Given the description of an element on the screen output the (x, y) to click on. 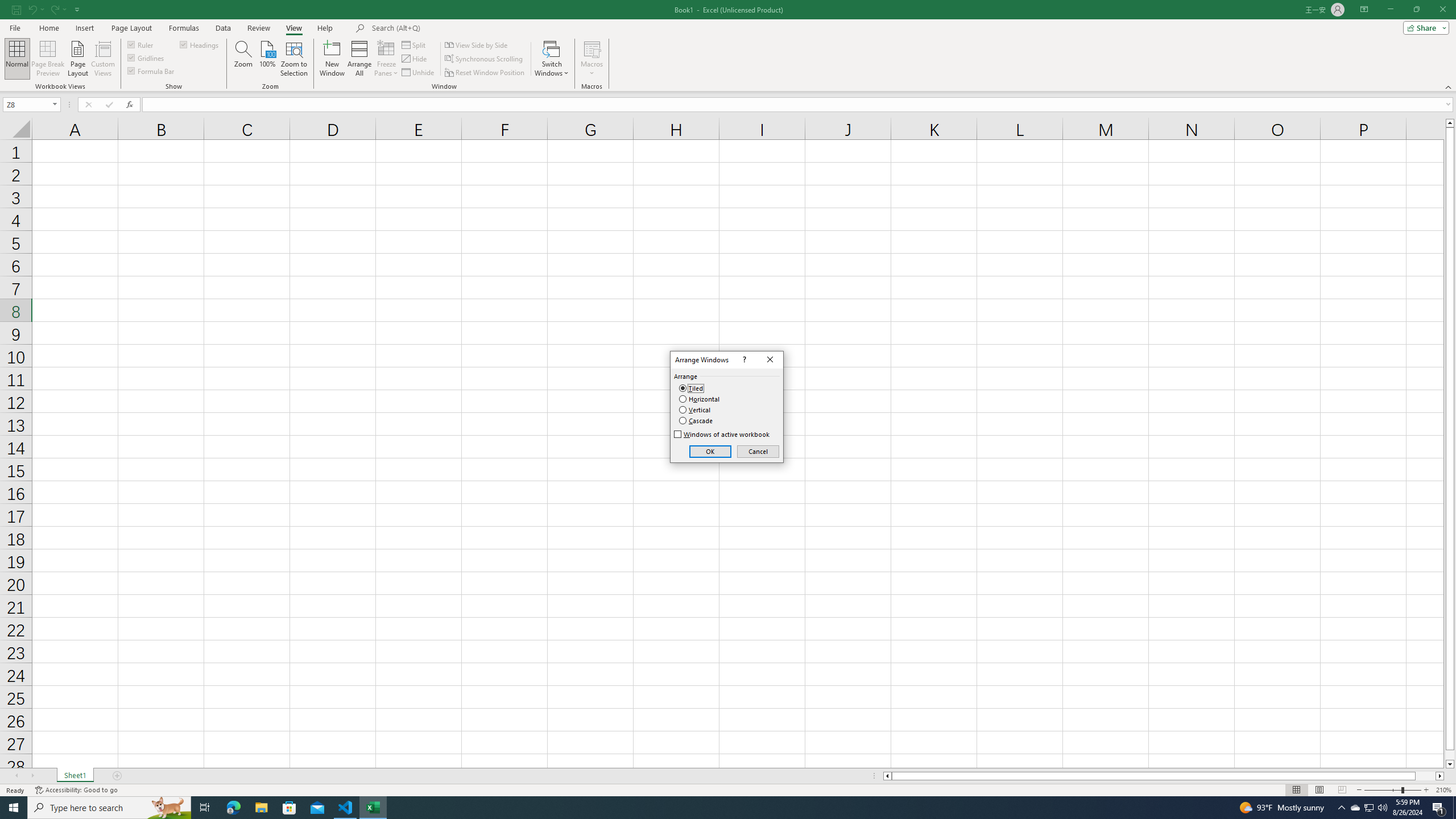
Q2790: 100% (1382, 807)
Vertical (694, 409)
OK (710, 451)
Microsoft Edge (233, 807)
Cancel (758, 451)
Freeze Panes (386, 58)
Restore Down (1416, 9)
Notification Chevron (1341, 807)
